Given the description of an element on the screen output the (x, y) to click on. 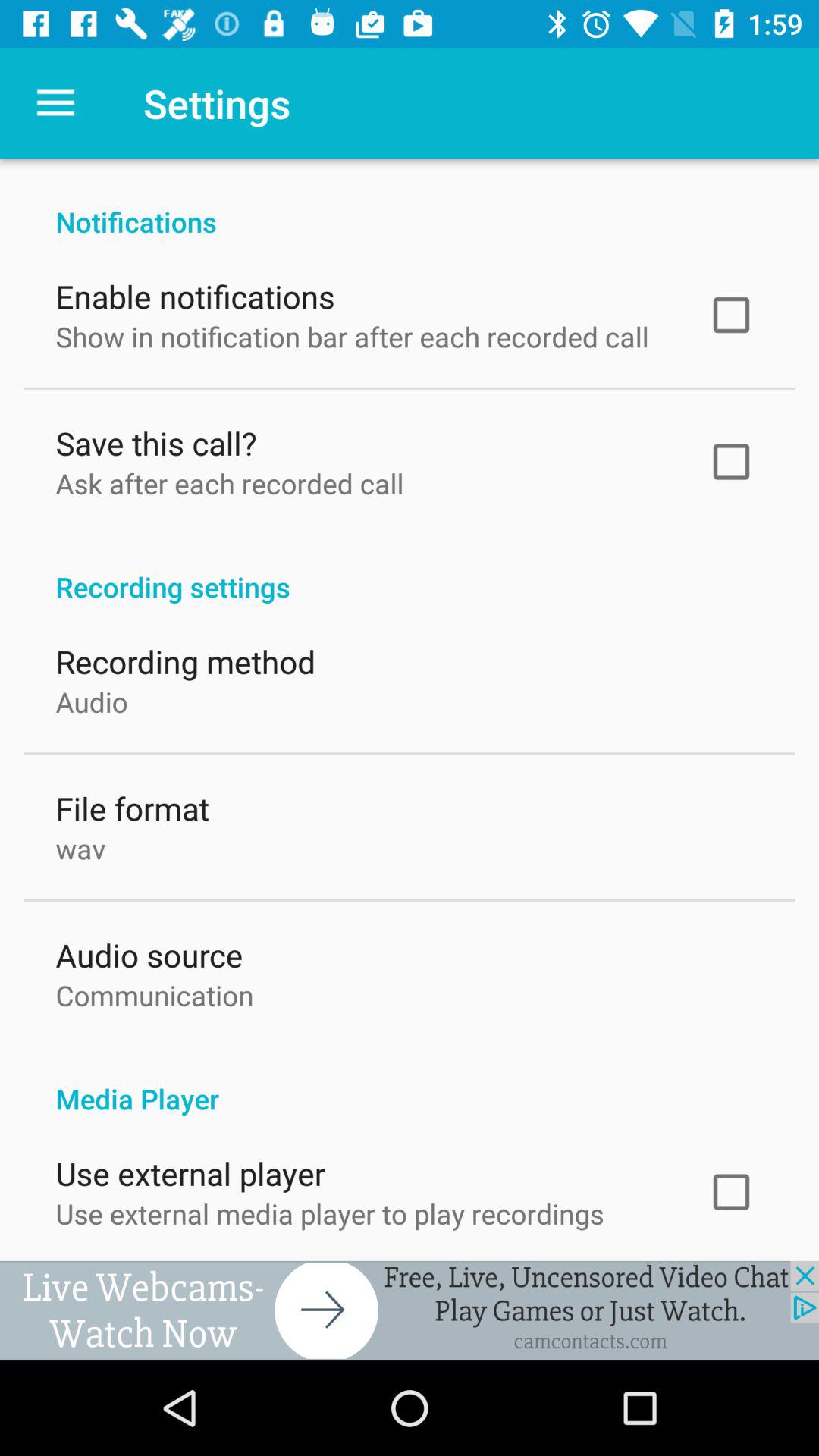
tap item above wav icon (132, 804)
